Given the description of an element on the screen output the (x, y) to click on. 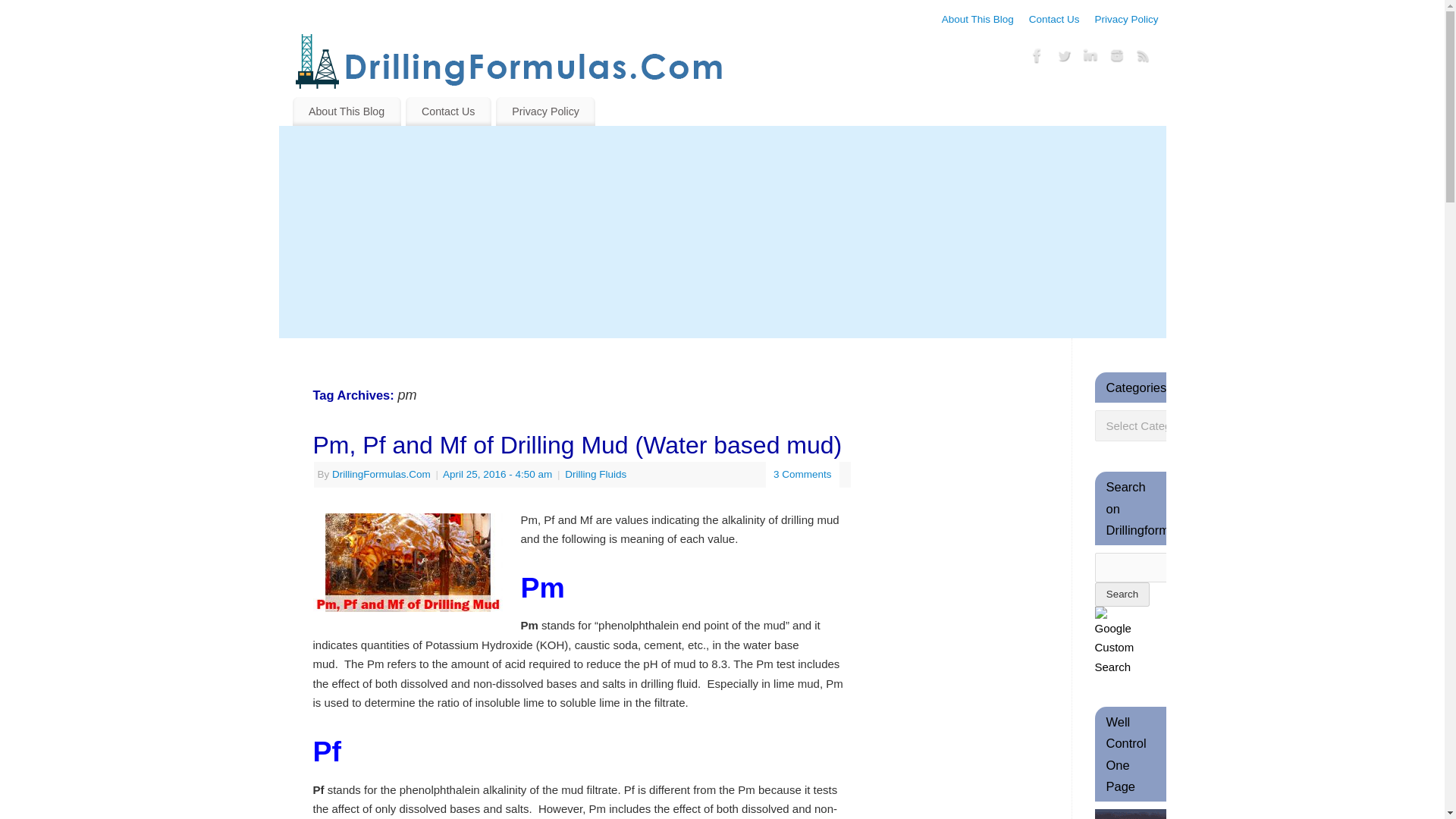
Search (1122, 594)
About This Blog (346, 111)
Search (1122, 594)
Contact Us (1054, 19)
Contact Us (449, 111)
3 Comments (802, 473)
View all posts by DrillingFormulas.Com (380, 473)
April 25, 2016 - 4:50 am (496, 473)
DrillingFormulas.Com (380, 473)
Drilling Fluids (595, 473)
4:50 am (496, 473)
Privacy Policy (545, 111)
Privacy Policy (1125, 19)
About This Blog (977, 19)
